Given the description of an element on the screen output the (x, y) to click on. 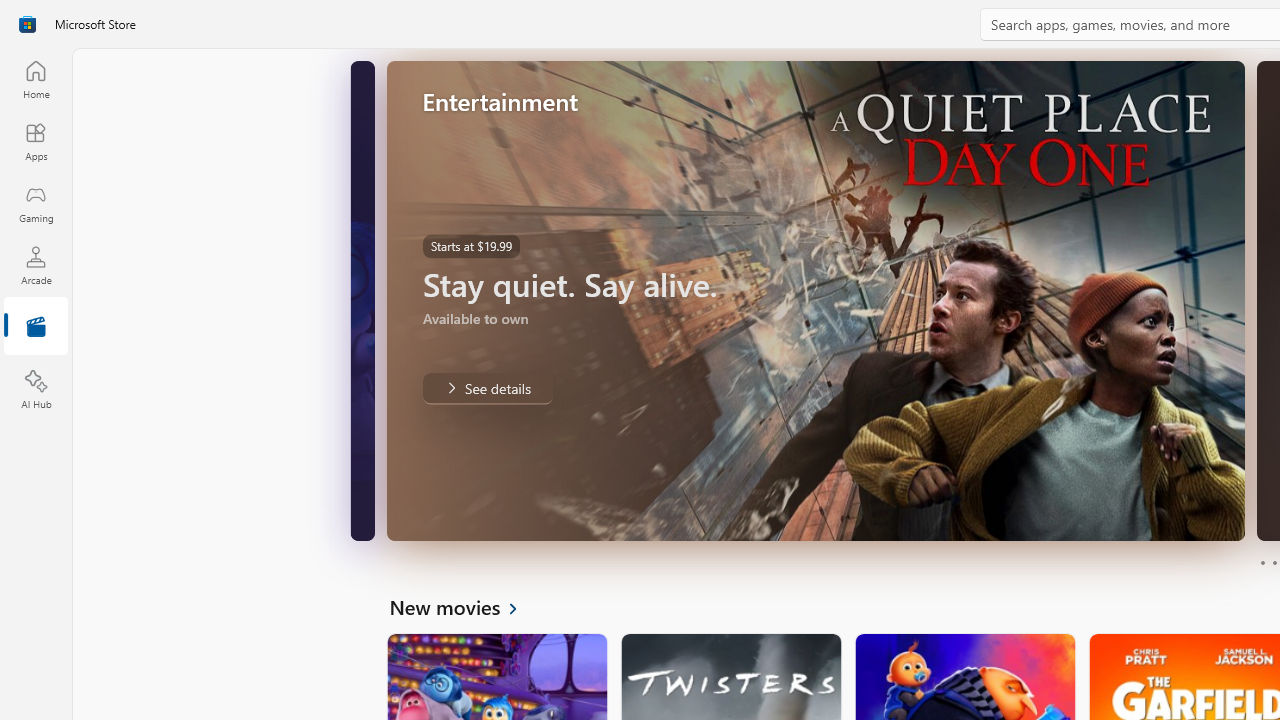
Unmute (355, 512)
See all  New movies (464, 606)
AutomationID: Image (815, 300)
Page 2 (1274, 562)
Page 1 (1261, 562)
